Given the description of an element on the screen output the (x, y) to click on. 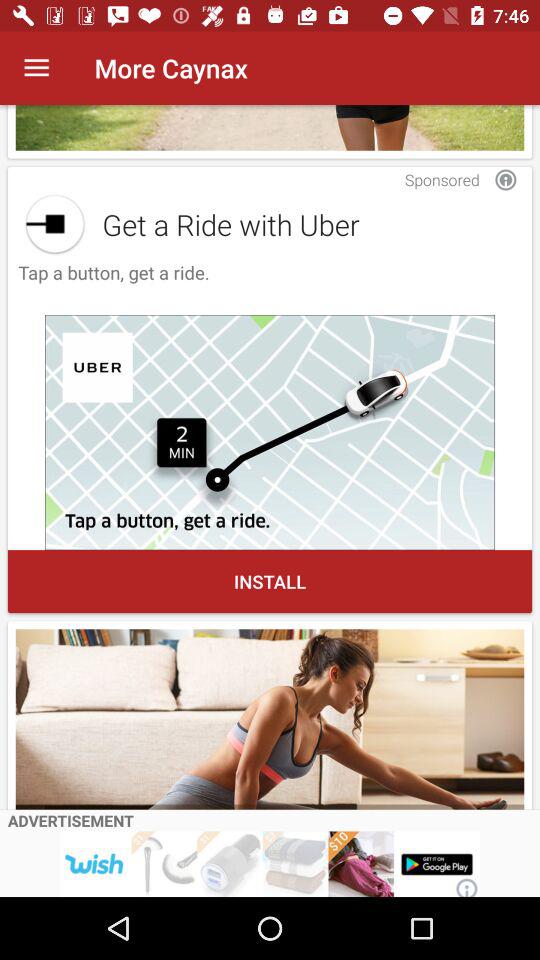
select this ab workout or exercise (269, 719)
